Given the description of an element on the screen output the (x, y) to click on. 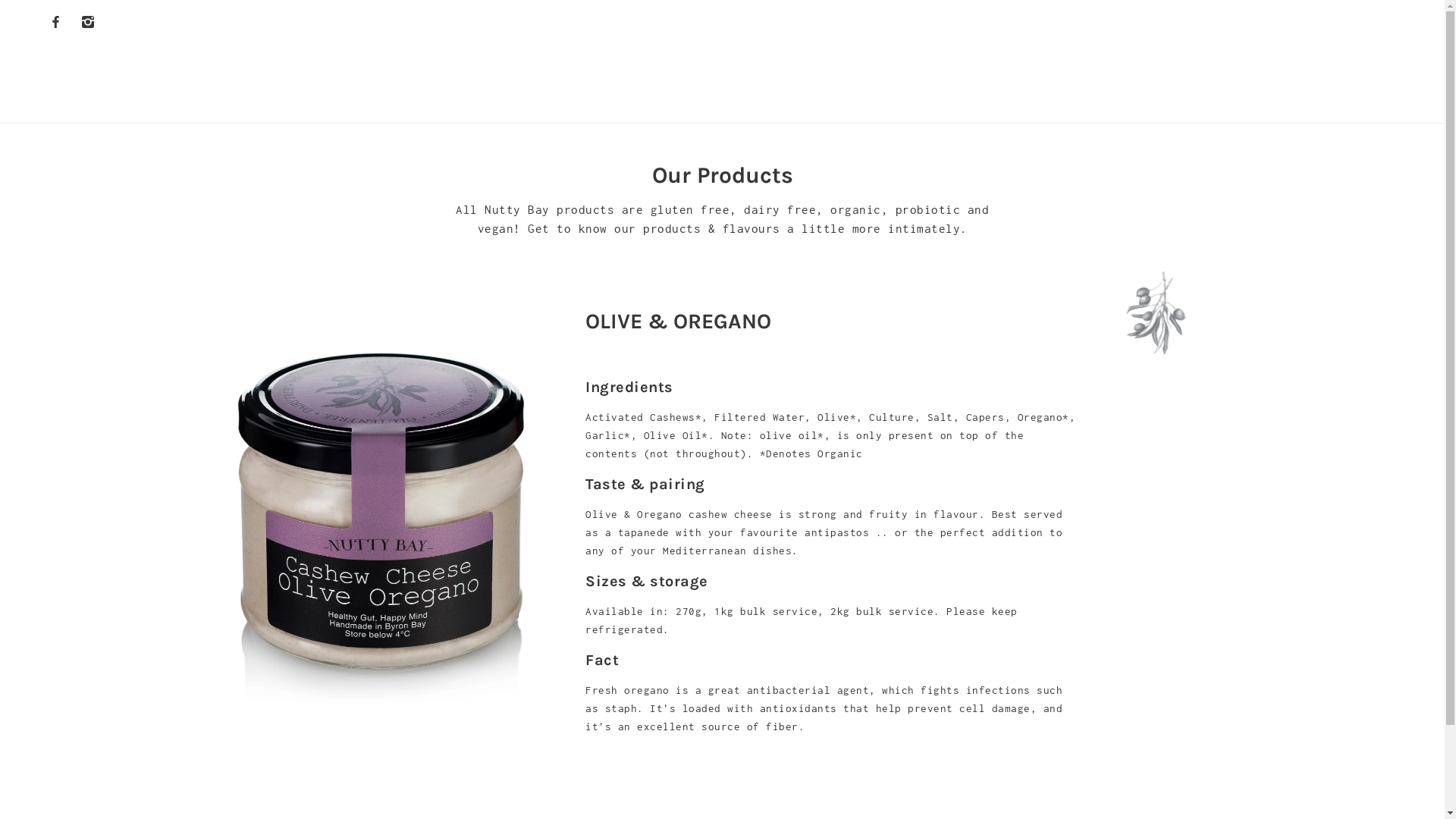
Facebook Element type: hover (55, 20)
Instagram Element type: hover (87, 20)
